Given the description of an element on the screen output the (x, y) to click on. 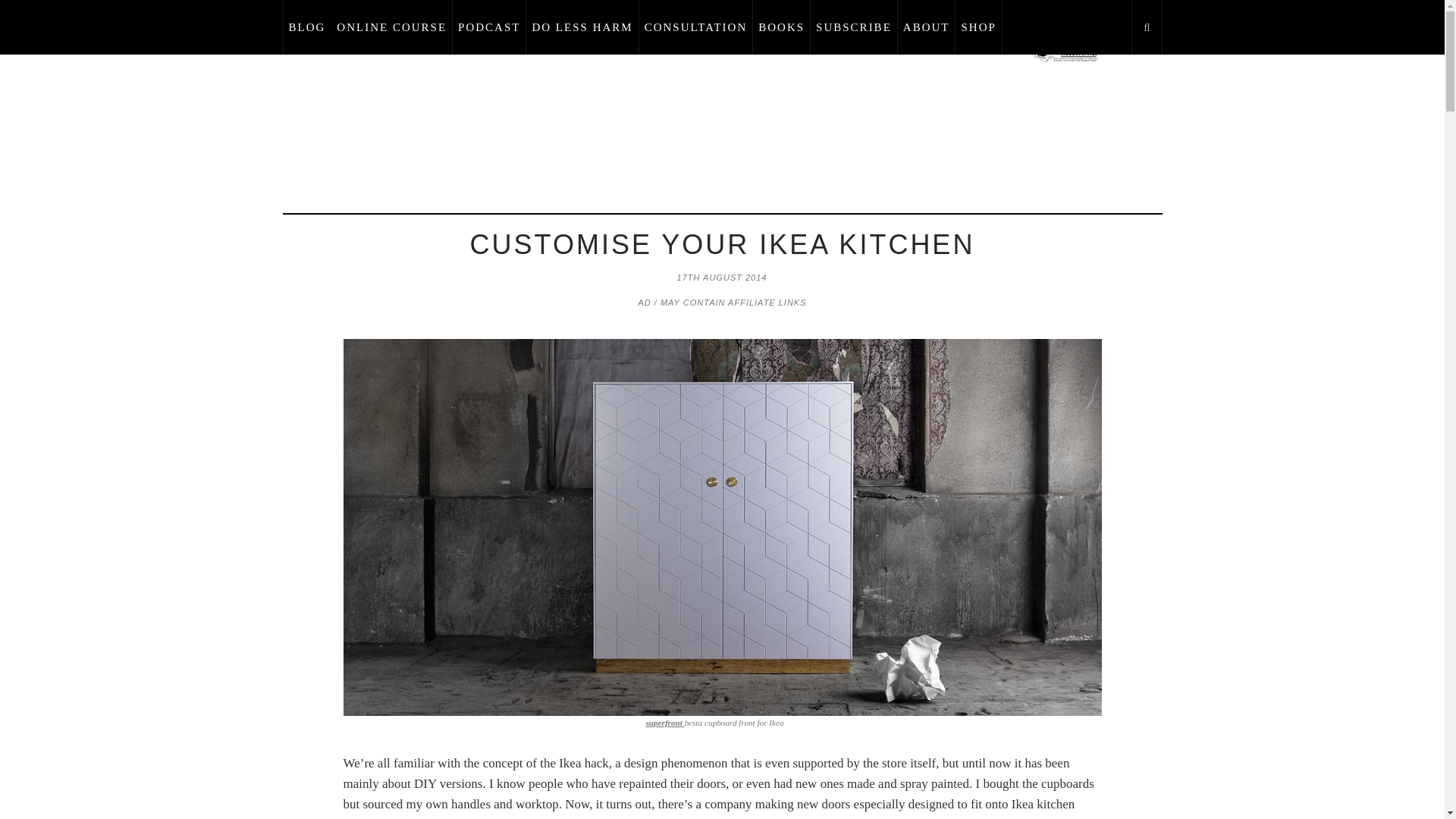
ONLINE COURSE (391, 27)
Mad About The House (1066, 48)
DO LESS HARM (582, 27)
BLOG (306, 27)
superfront (664, 722)
BOOKS (781, 27)
PODCAST (488, 27)
SUBSCRIBE (854, 27)
CONSULTATION (696, 27)
ABOUT (927, 27)
